Given the description of an element on the screen output the (x, y) to click on. 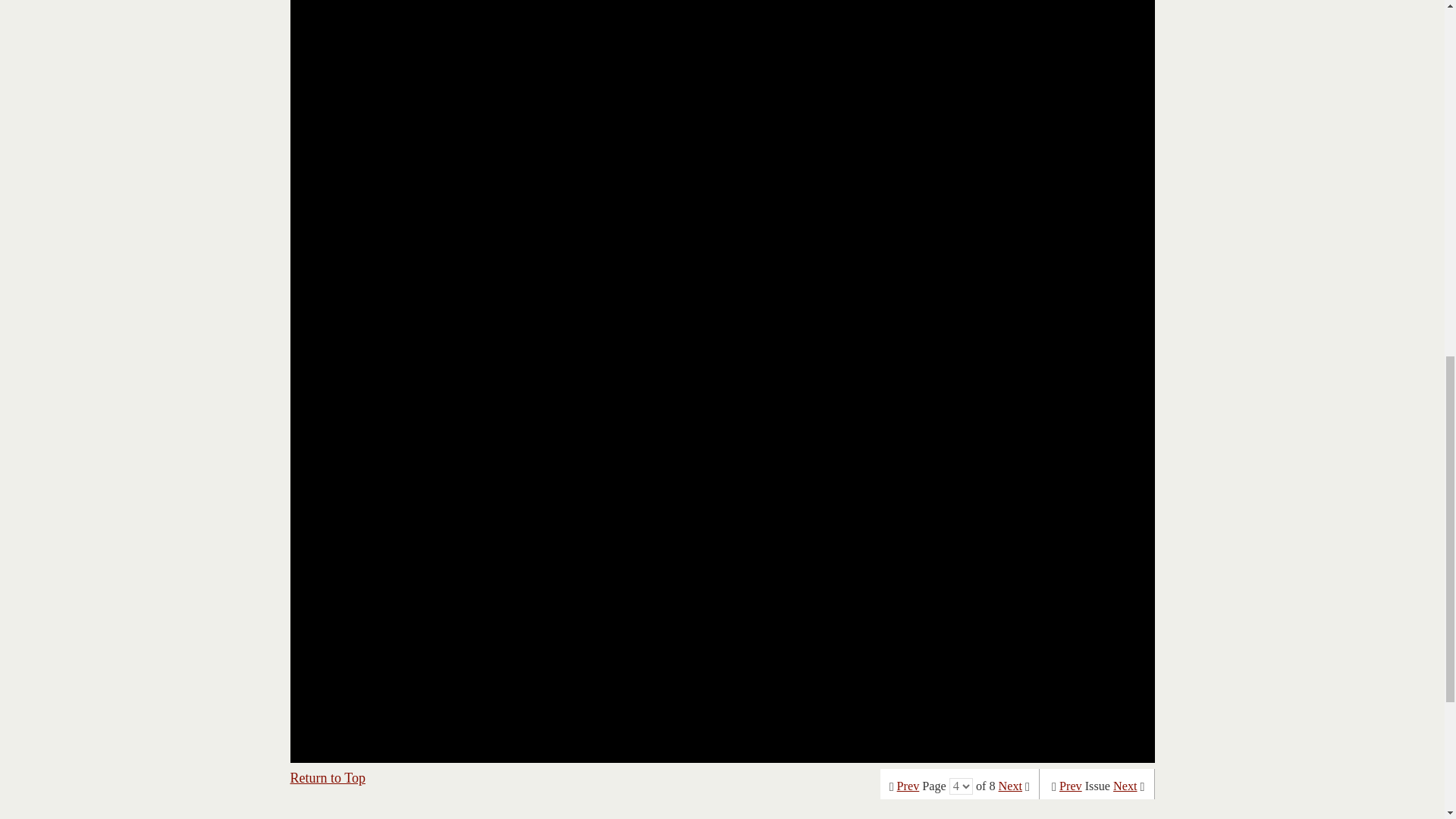
Next (1010, 786)
Prev (908, 786)
Return to Top (327, 777)
Next (1125, 786)
Prev (1070, 786)
